Given the description of an element on the screen output the (x, y) to click on. 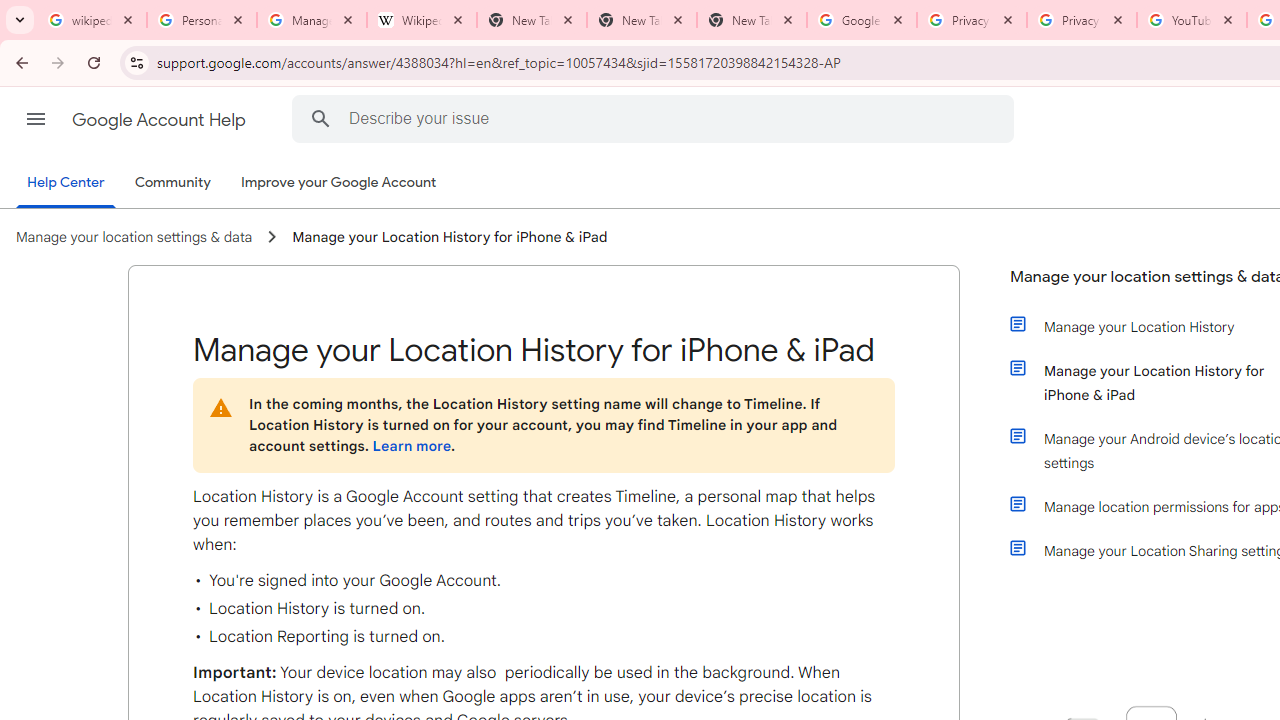
Google Account Help (160, 119)
Search Help Center (320, 118)
Wikipedia:Edit requests - Wikipedia (422, 20)
Improve your Google Account (339, 183)
Describe your issue (655, 118)
Community (171, 183)
Personalization & Google Search results - Google Search Help (202, 20)
Learn more (411, 446)
